Given the description of an element on the screen output the (x, y) to click on. 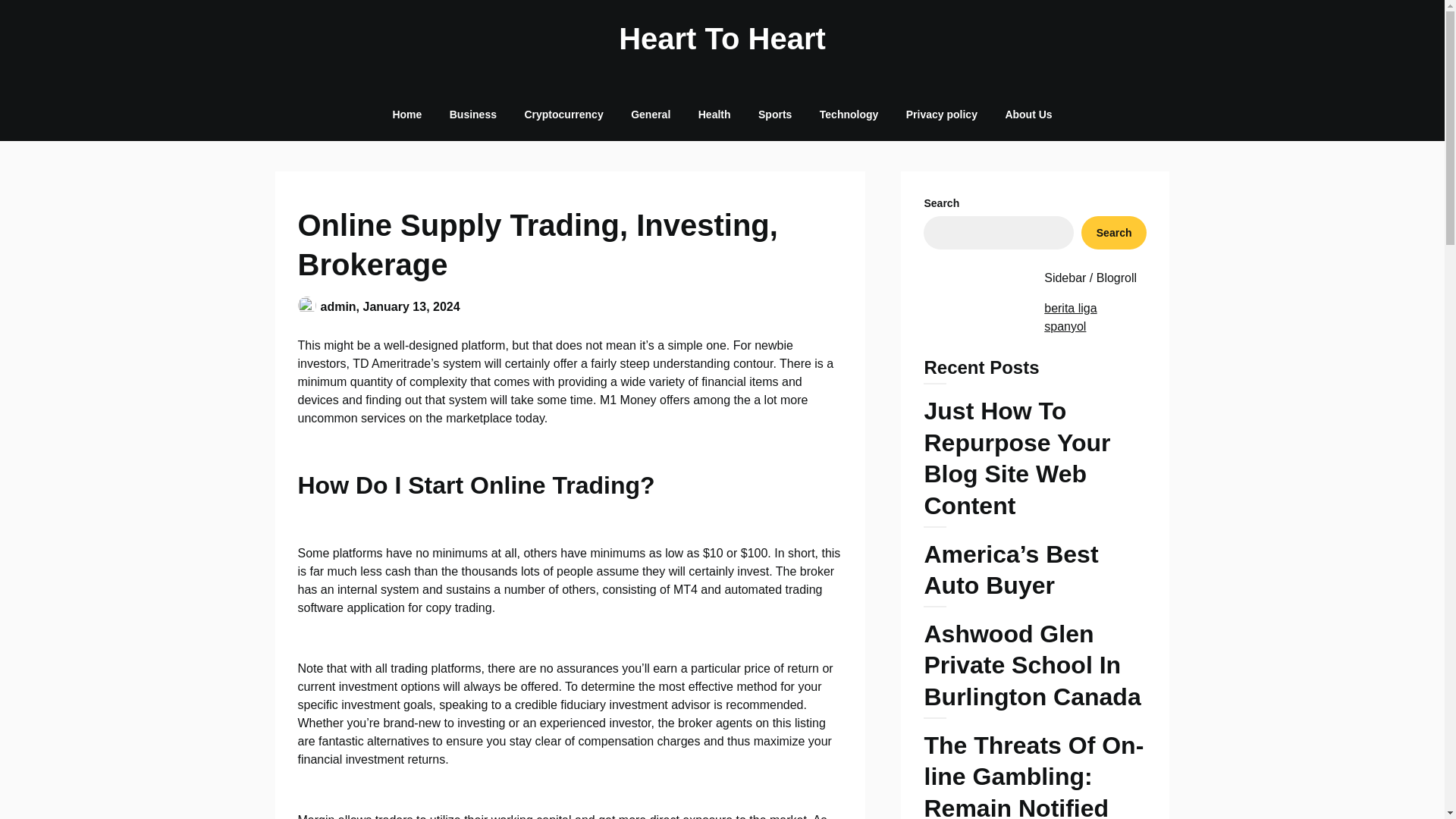
Sports (774, 114)
General (650, 114)
Ashwood Glen Private School In Burlington Canada (1035, 669)
The Threats Of On-line Gambling: Remain Notified (1035, 774)
Just How To Repurpose Your Blog Site Web Content (1035, 461)
Cryptocurrency (563, 114)
Home (406, 114)
January 13, 2024 (411, 306)
Business (473, 114)
berita liga spanyol (1069, 317)
Technology (849, 114)
Health (713, 114)
Heart To Heart (722, 38)
Search (1114, 232)
About Us (1028, 114)
